Given the description of an element on the screen output the (x, y) to click on. 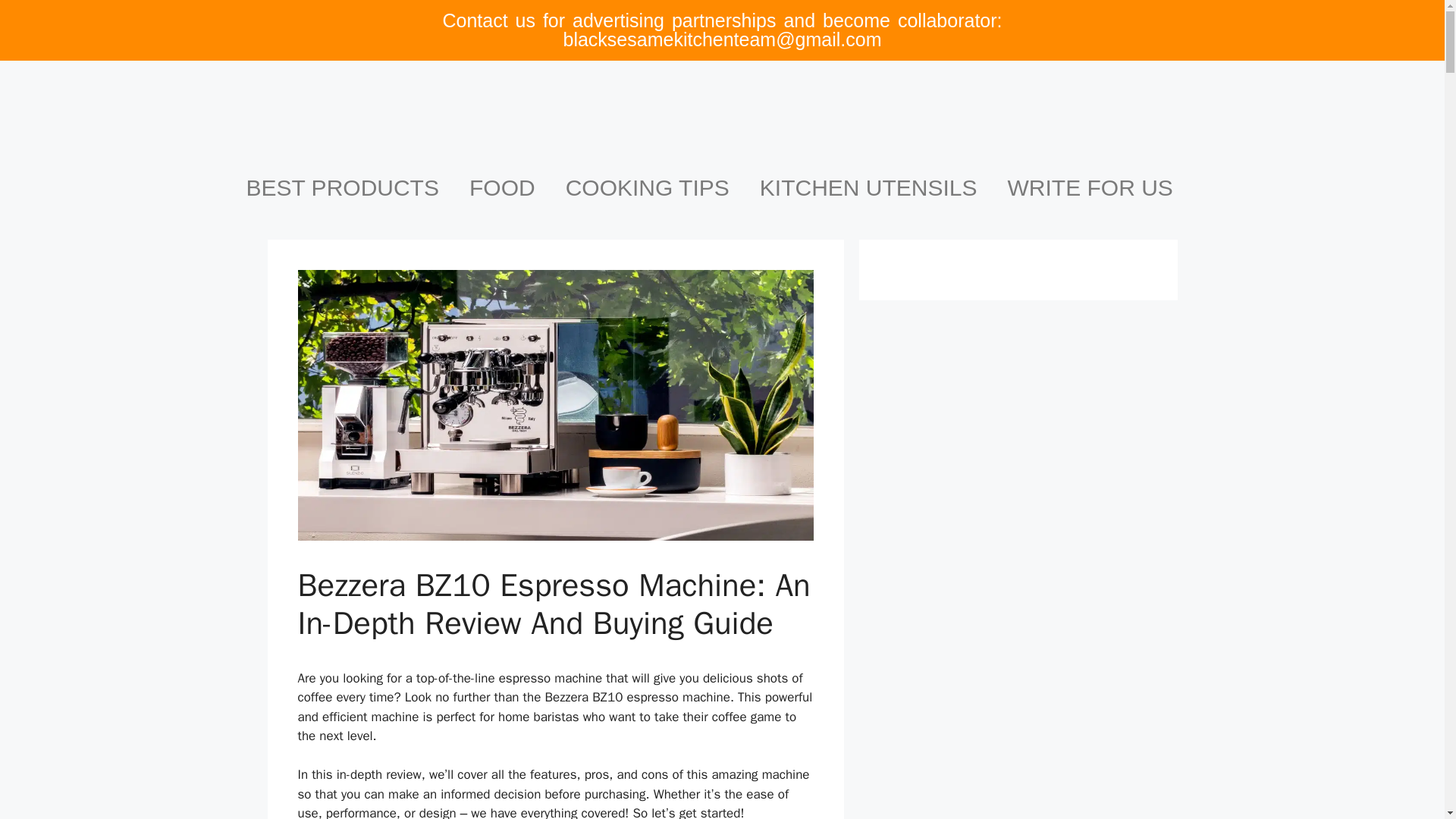
KITCHEN UTENSILS (868, 187)
FOOD (502, 187)
WRITE FOR US (1090, 187)
BEST PRODUCTS (342, 187)
COOKING TIPS (647, 187)
